Given the description of an element on the screen output the (x, y) to click on. 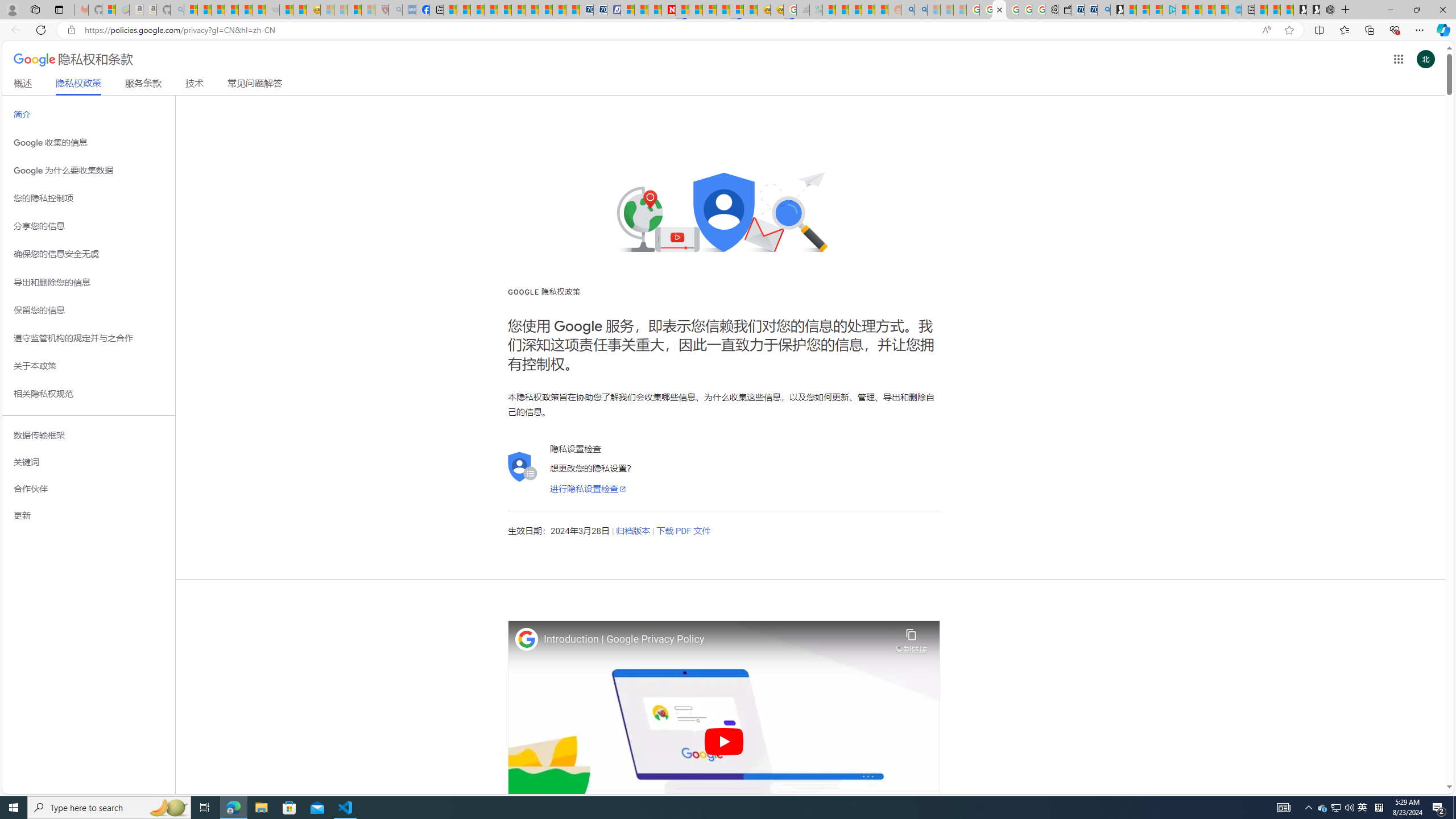
Introduction | Google Privacy Policy (716, 639)
Combat Siege - Sleeping (271, 9)
